Given the description of an element on the screen output the (x, y) to click on. 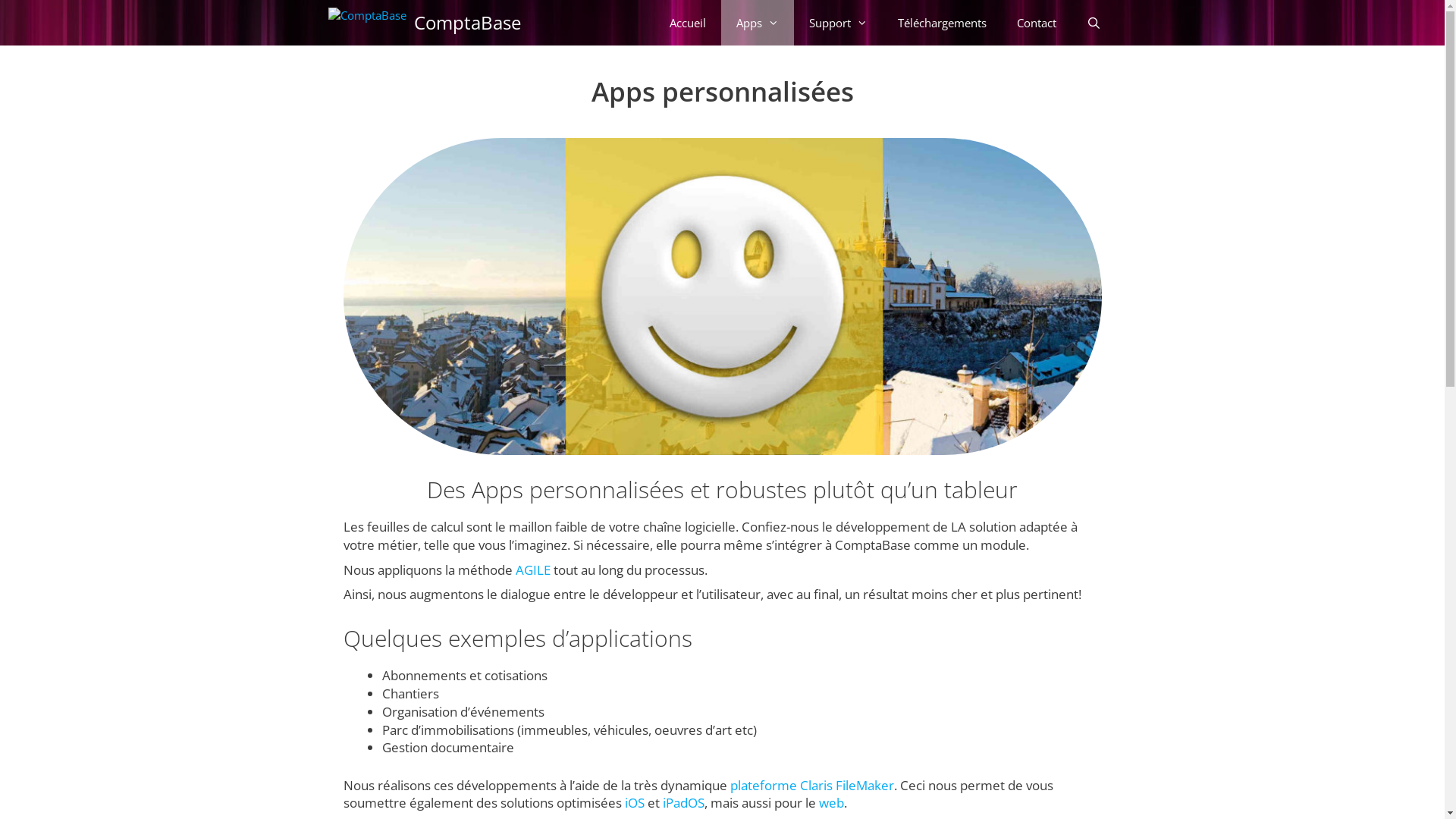
ComptaBase Element type: text (467, 22)
web Element type: text (831, 802)
Contact Element type: text (1036, 22)
Accueil Element type: text (687, 22)
ComptaBase Element type: hover (370, 22)
iOS Element type: text (634, 802)
Apps Element type: text (757, 22)
ComptaBase Element type: hover (366, 22)
Support Element type: text (837, 22)
iPadOS Element type: text (683, 802)
AGILE Element type: text (532, 569)
plateforme Claris FileMaker Element type: text (811, 784)
